Given the description of an element on the screen output the (x, y) to click on. 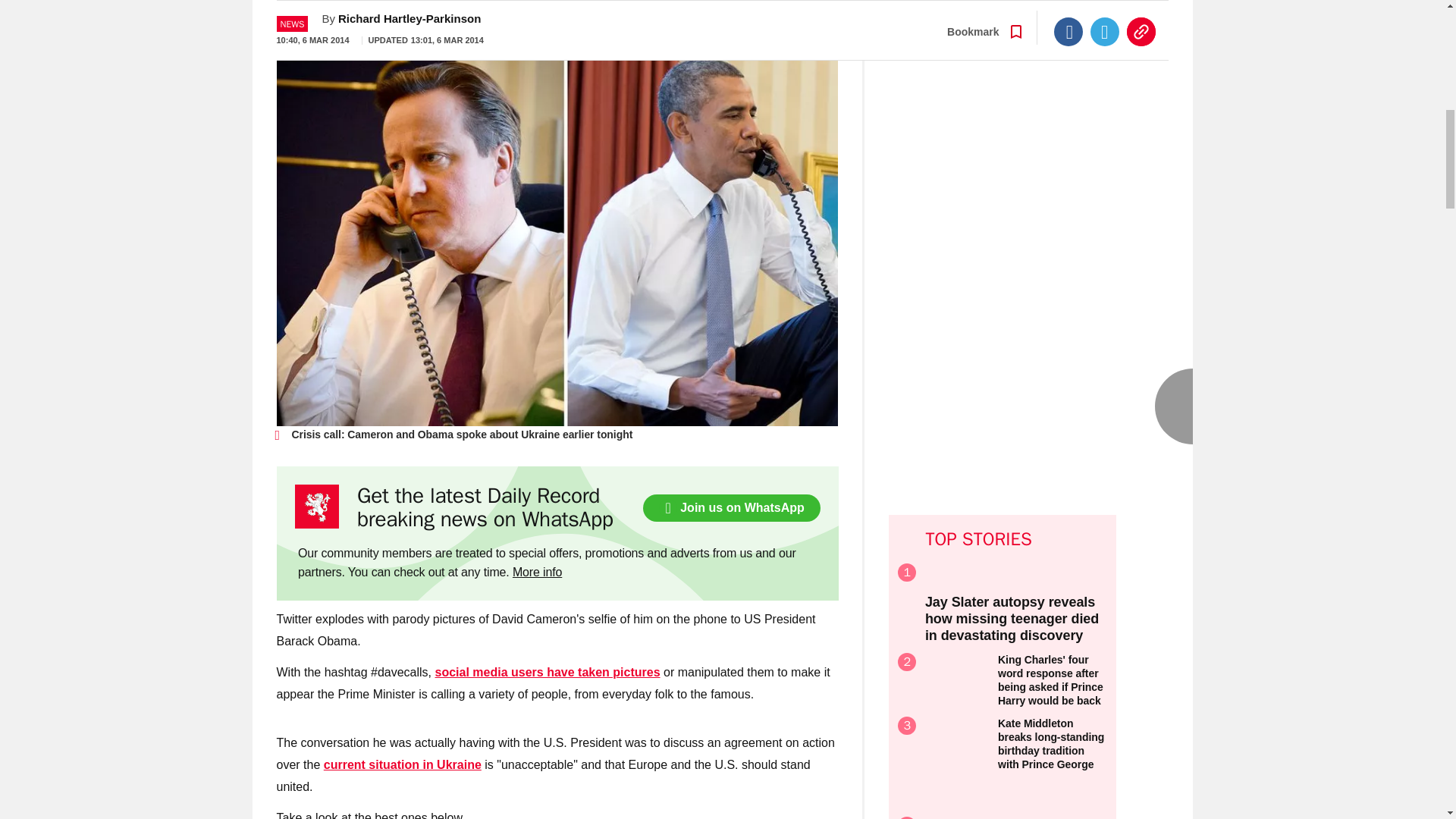
Facebook (1068, 10)
Twitter (1104, 10)
